Given the description of an element on the screen output the (x, y) to click on. 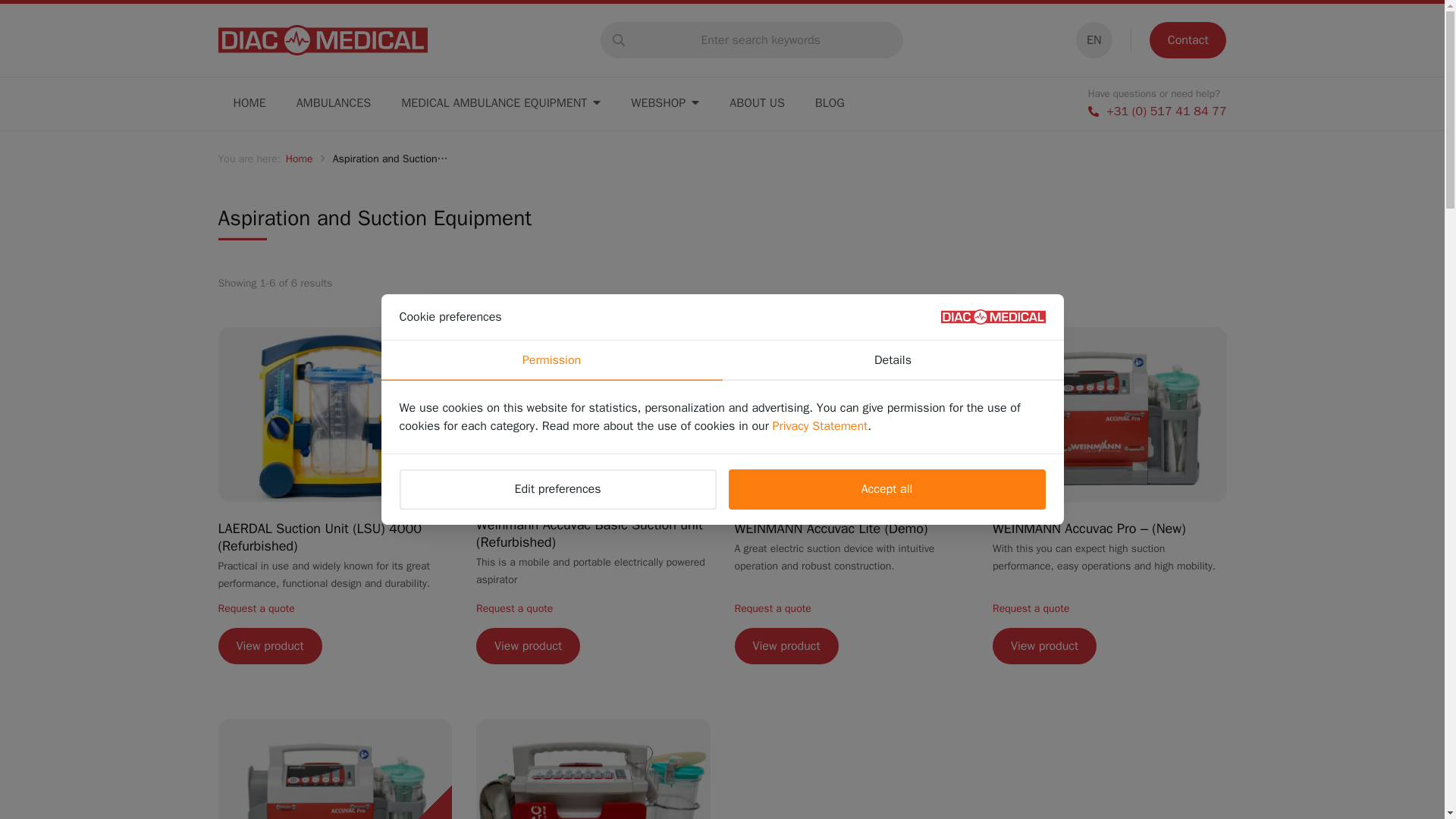
Diac Medical (323, 40)
EN (1093, 40)
Contact (1188, 40)
AMBULANCES (333, 102)
WEBSHOP (664, 102)
Contact (1188, 40)
MEDICAL AMBULANCE EQUIPMENT (500, 102)
Change language (1093, 40)
HOME (249, 102)
Ambulances (333, 102)
Home (249, 102)
Medical Ambulance Equipment (500, 102)
